Given the description of an element on the screen output the (x, y) to click on. 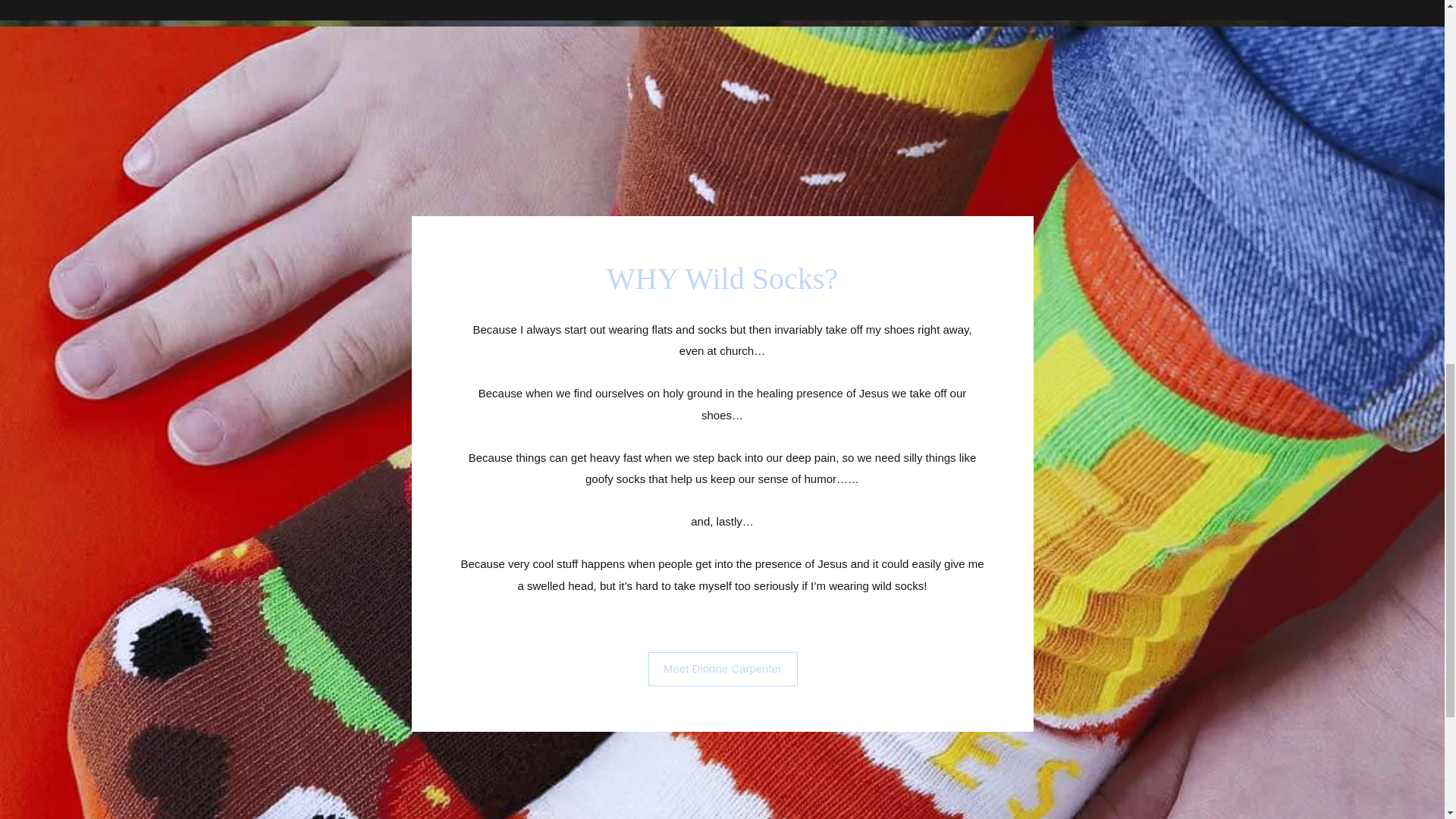
Meet Dionne Carpenter (721, 668)
